Given the description of an element on the screen output the (x, y) to click on. 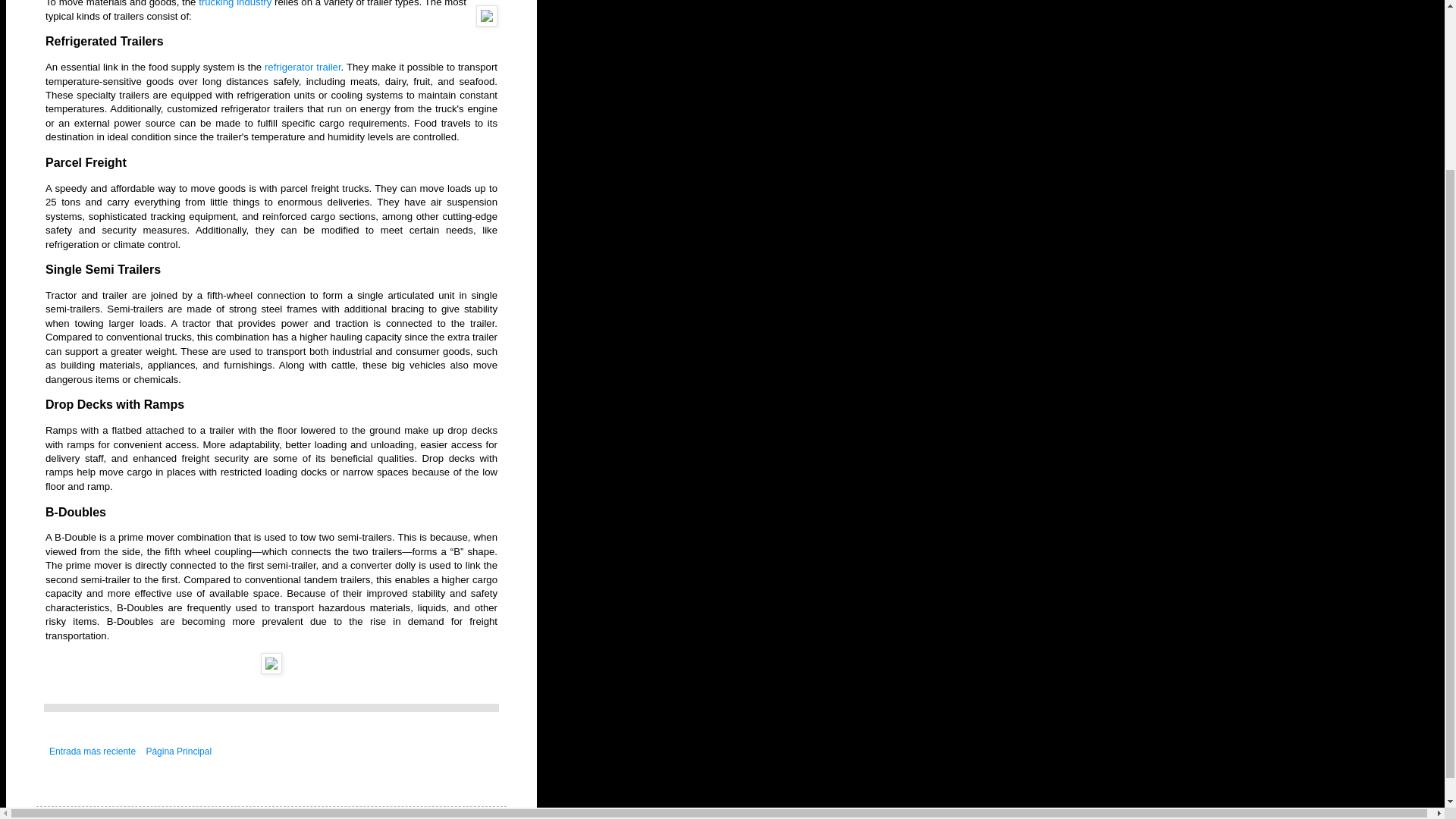
trucking industry (234, 3)
Blogger (400, 811)
Barcin (291, 811)
refrigerator trailer (302, 66)
